Given the description of an element on the screen output the (x, y) to click on. 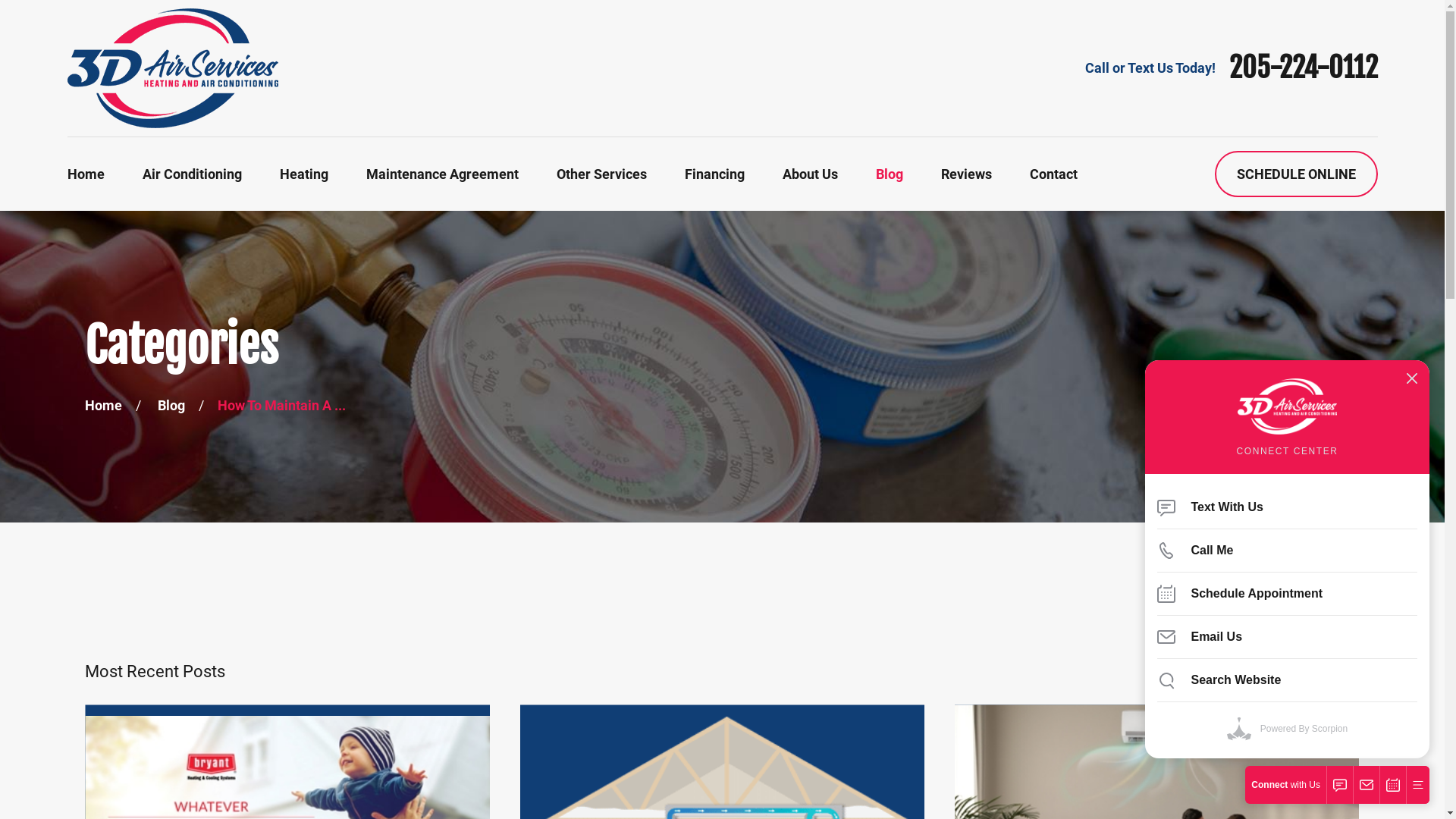
Blog Menu Element type: hover (1331, 656)
Reviews Element type: text (965, 173)
Financing Element type: text (713, 173)
Contact Element type: text (1053, 173)
Email Us Element type: text (1287, 636)
Air Conditioning Element type: text (191, 173)
205-224-0112 Element type: text (1302, 67)
SCHEDULE ONLINE Element type: text (1295, 173)
Powered By Scorpion Element type: text (1286, 728)
About Us Element type: text (809, 173)
Schedule Appointment Element type: text (1287, 593)
Maintenance Agreement Element type: text (441, 173)
Home Element type: text (84, 173)
Blog Element type: text (171, 405)
Call Me Element type: text (1287, 550)
Blog Element type: text (888, 173)
Heating Element type: text (303, 173)
Home Element type: hover (171, 68)
Search Website Element type: text (1287, 679)
Home Element type: text (103, 405)
Text With Us Element type: text (1287, 507)
Other Services Element type: text (601, 173)
